Given the description of an element on the screen output the (x, y) to click on. 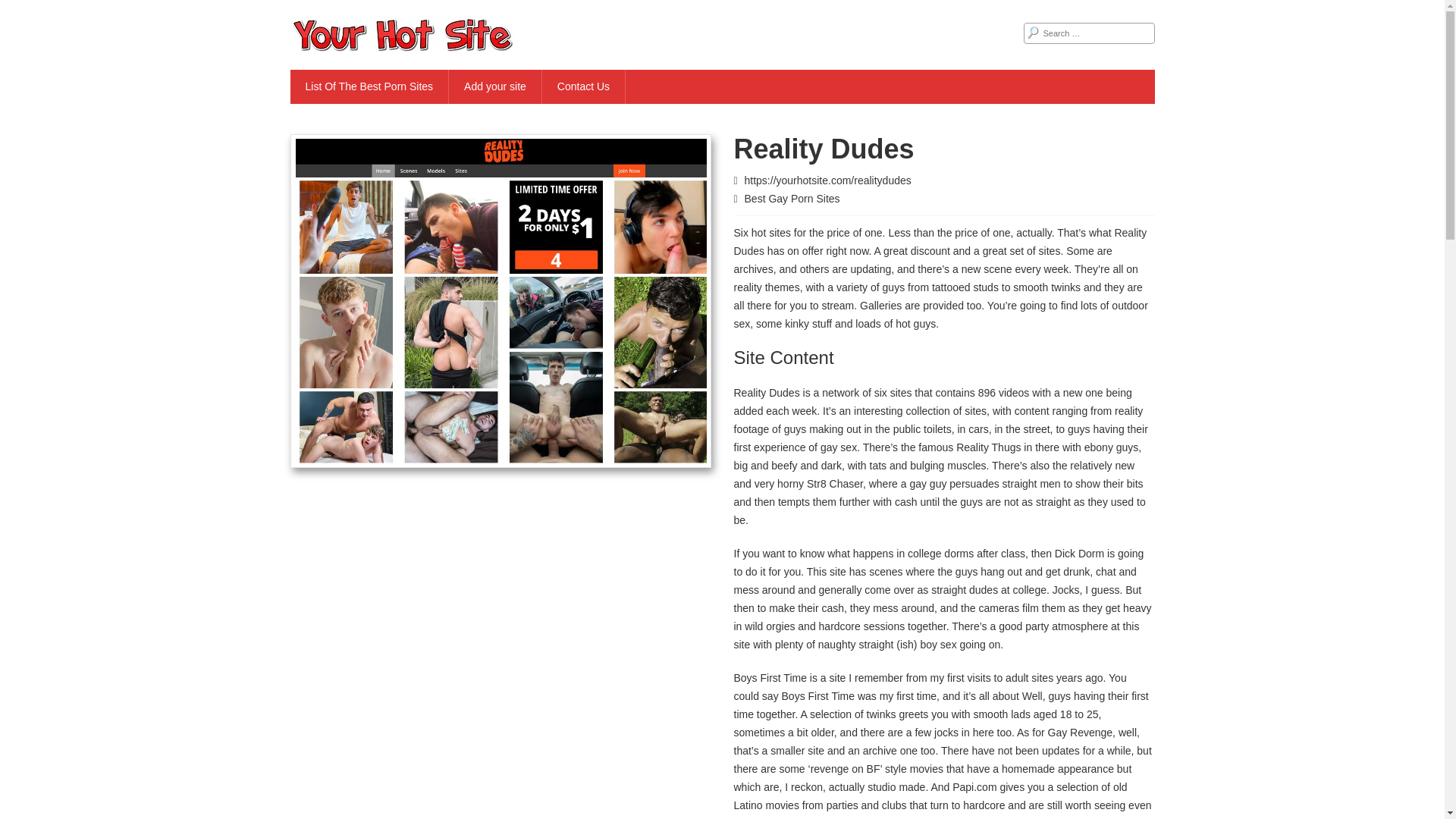
Search (22, 9)
List Of The Best Porn Sites (368, 86)
Reality Dudes (940, 241)
Contact Us (583, 86)
Best Gay Porn Sites (792, 198)
Add your site (494, 86)
